Given the description of an element on the screen output the (x, y) to click on. 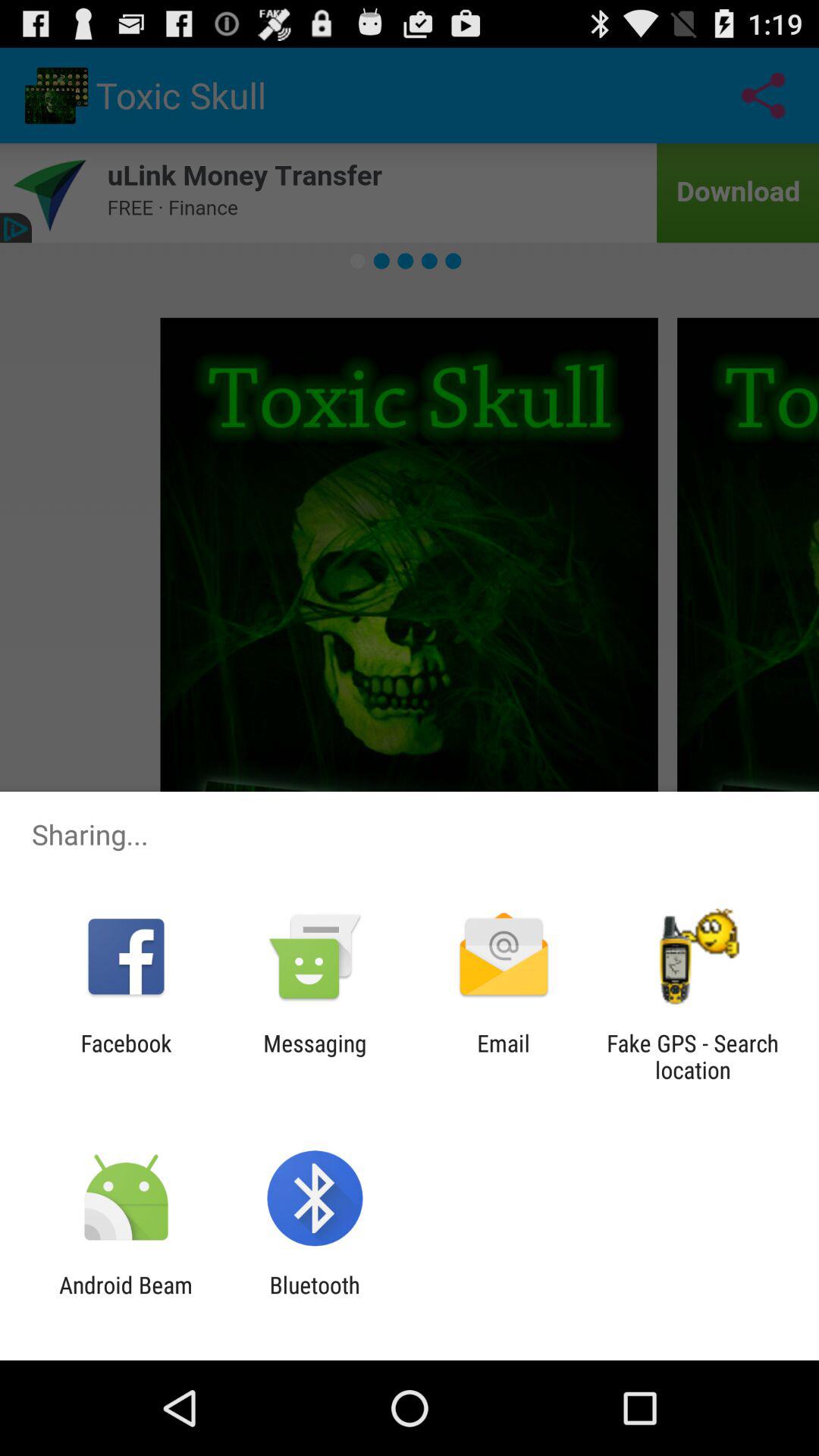
select icon next to fake gps search (503, 1056)
